Given the description of an element on the screen output the (x, y) to click on. 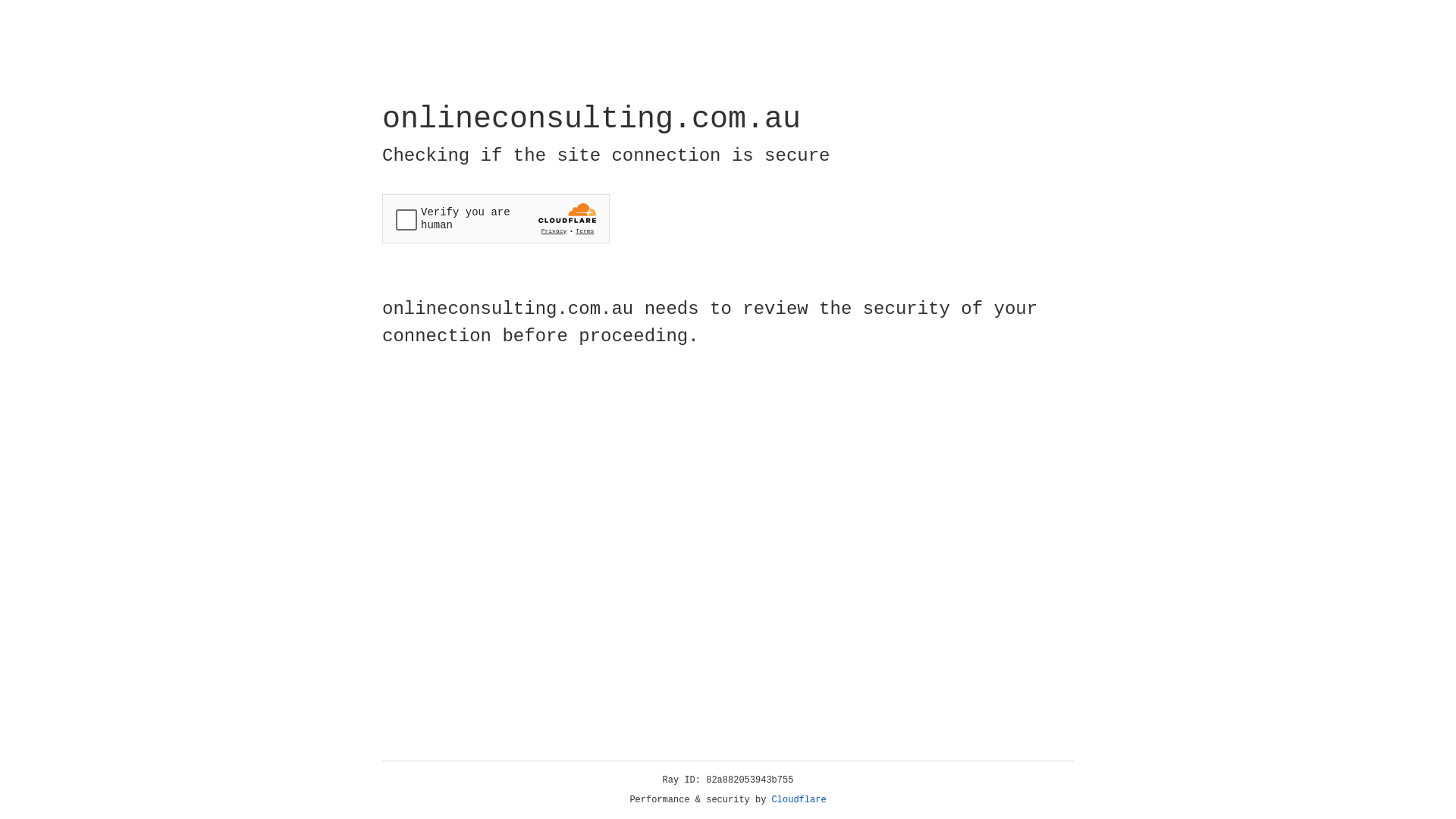
Widget containing a Cloudflare security challenge Element type: hover (495, 218)
Cloudflare Element type: text (798, 799)
